Given the description of an element on the screen output the (x, y) to click on. 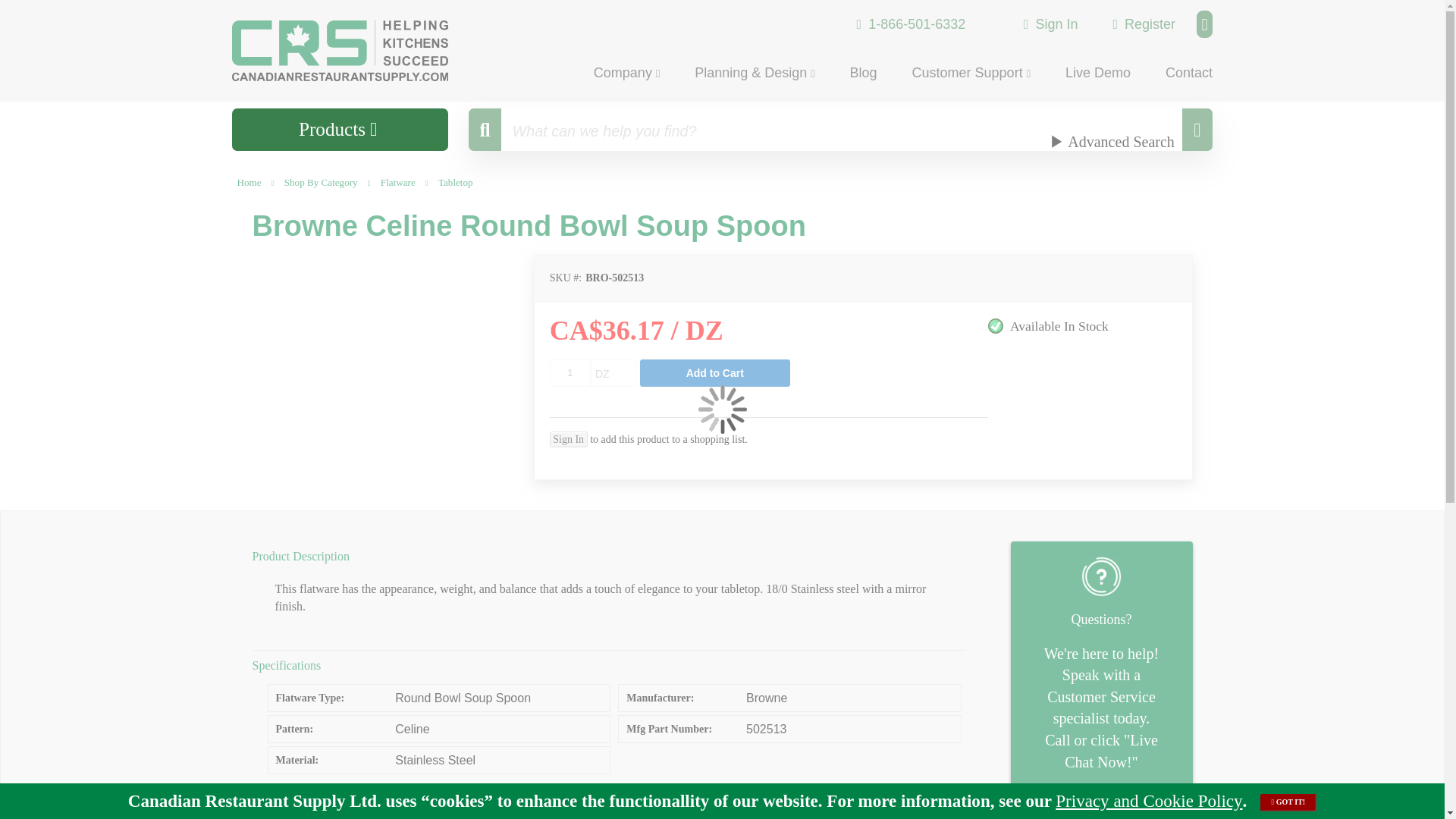
Customer Support (970, 72)
Add to Cart (715, 372)
CRS Helping Kitchens Succeed (360, 50)
Sign In (1051, 23)
1 (570, 372)
Go to Home Page (249, 182)
Search (1197, 129)
Enter quantity to buy (570, 372)
Products (339, 129)
Contact (1181, 71)
1-866-501-6332 (911, 23)
Create New Account (1144, 23)
Availability (1082, 325)
Live Demo (1097, 71)
Company (625, 72)
